Given the description of an element on the screen output the (x, y) to click on. 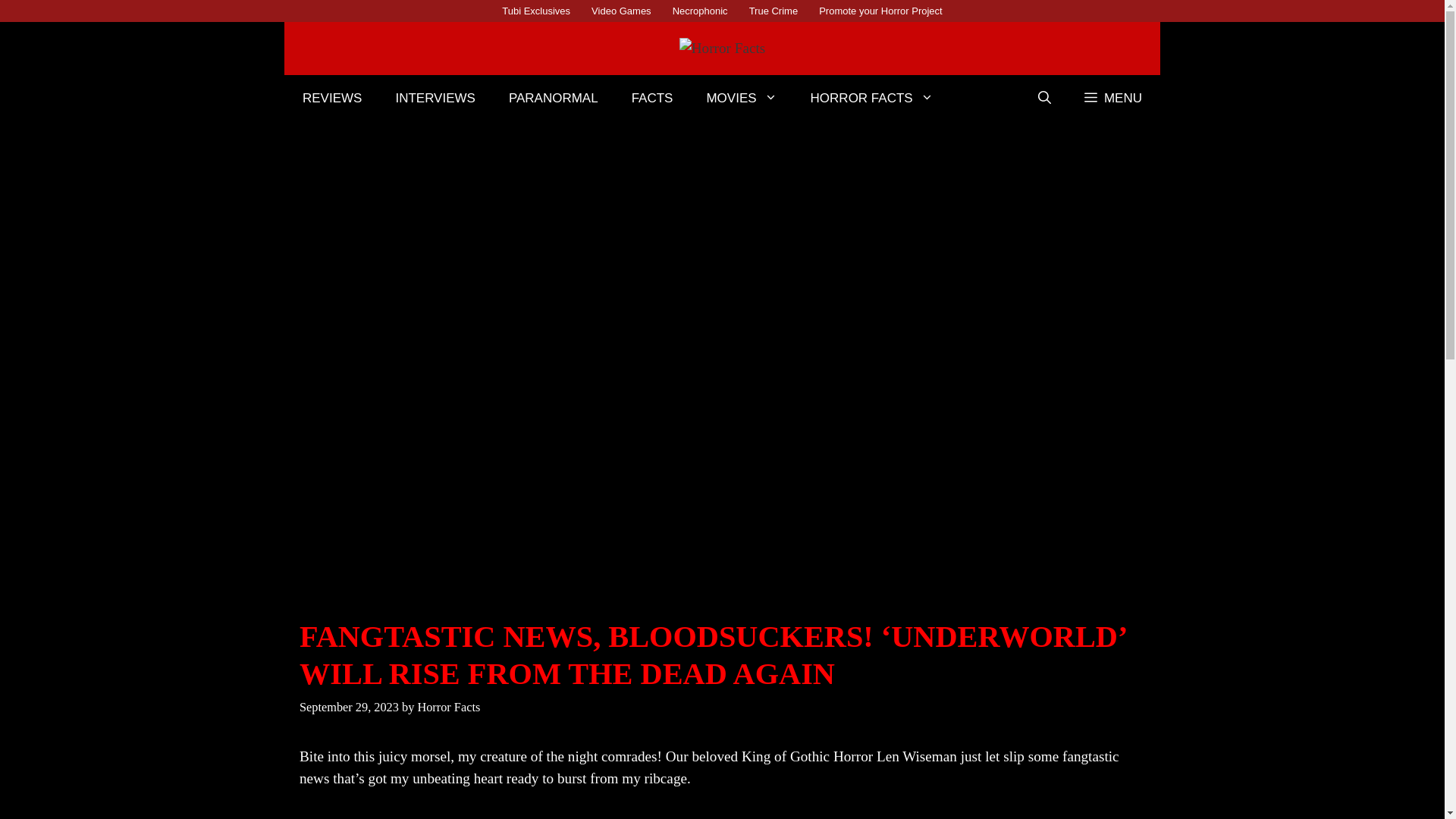
Video Games (621, 11)
Necrophonic (700, 11)
FACTS (652, 98)
INTERVIEWS (435, 98)
View all posts by Horror Facts (448, 707)
Promote your Horror Project (880, 11)
Tubi Exclusives (536, 11)
PARANORMAL (553, 98)
MOVIES (740, 98)
REVIEWS (331, 98)
True Crime (773, 11)
